Given the description of an element on the screen output the (x, y) to click on. 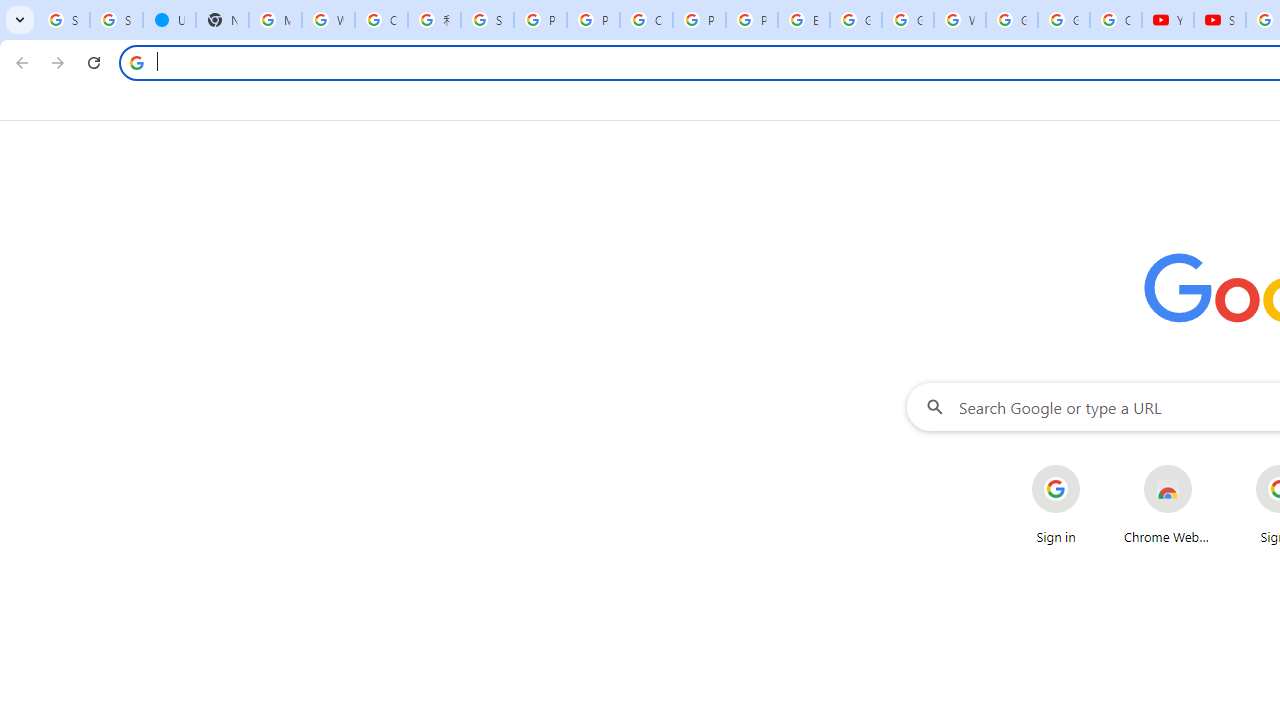
New Tab (222, 20)
Welcome to My Activity (959, 20)
